Given the description of an element on the screen output the (x, y) to click on. 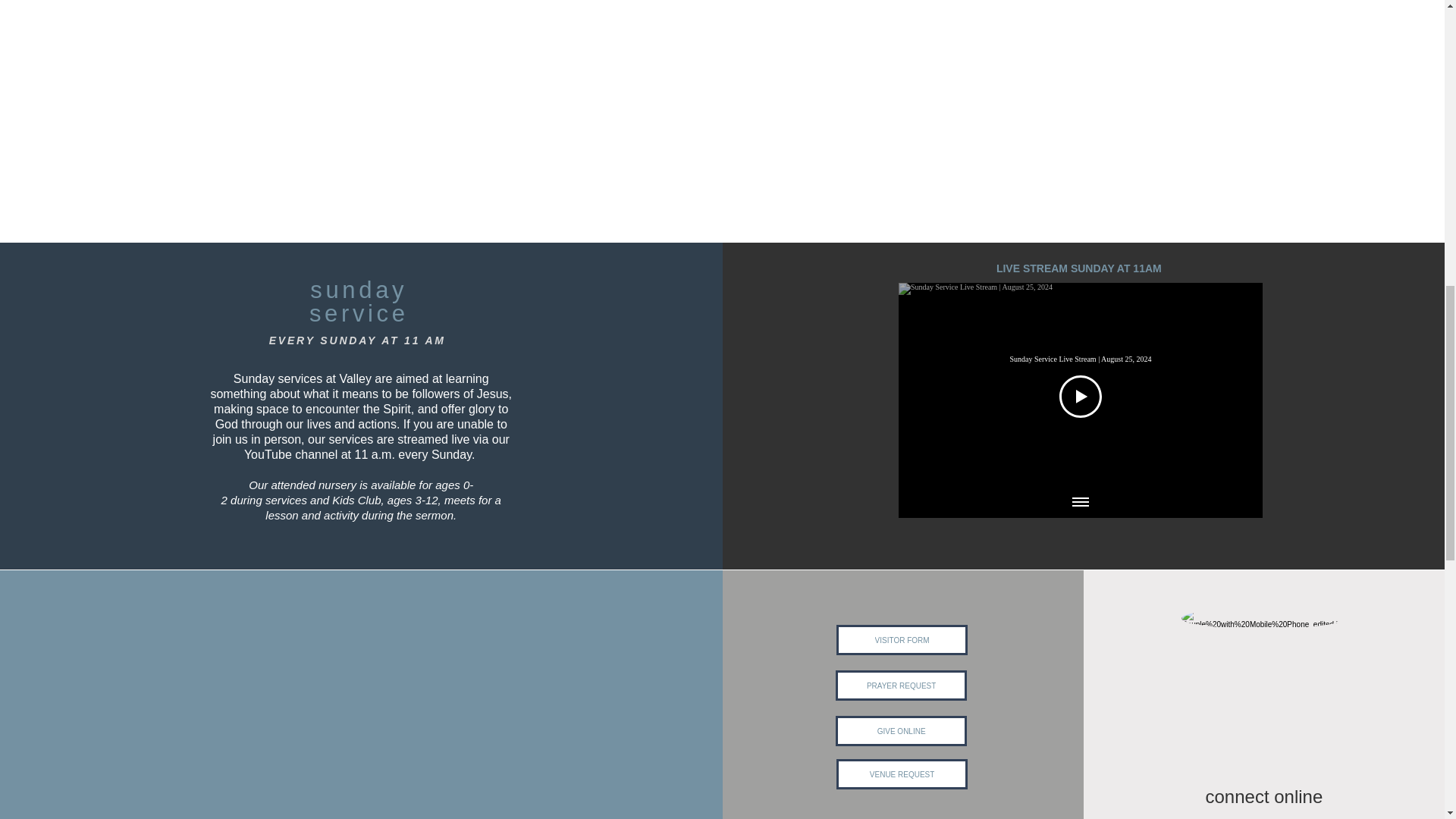
GIVE ONLINE (900, 730)
VENUE REQUEST (901, 774)
VISITOR FORM (901, 639)
PRAYER REQUEST (900, 685)
